Given the description of an element on the screen output the (x, y) to click on. 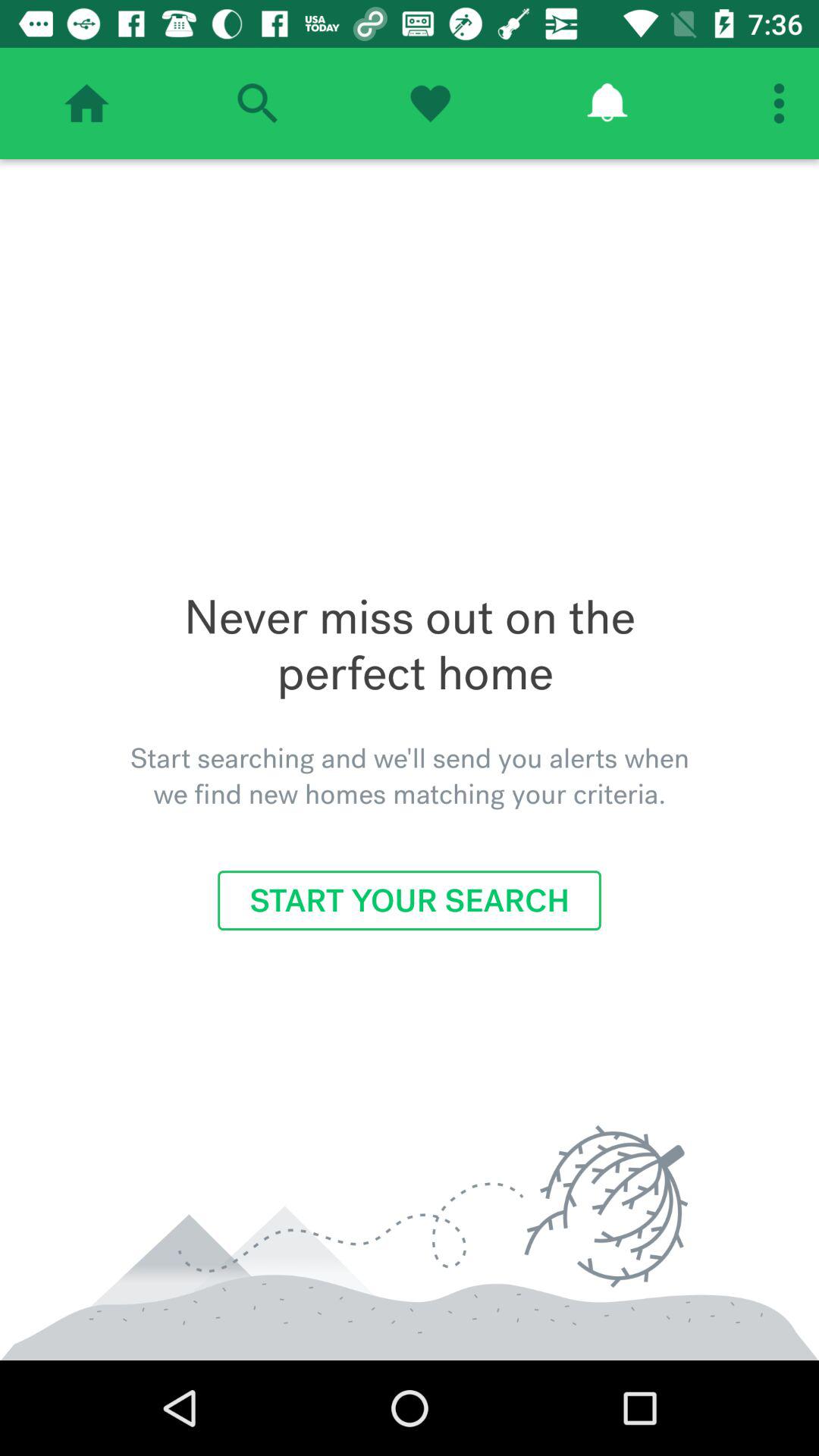
home icon (86, 103)
